Given the description of an element on the screen output the (x, y) to click on. 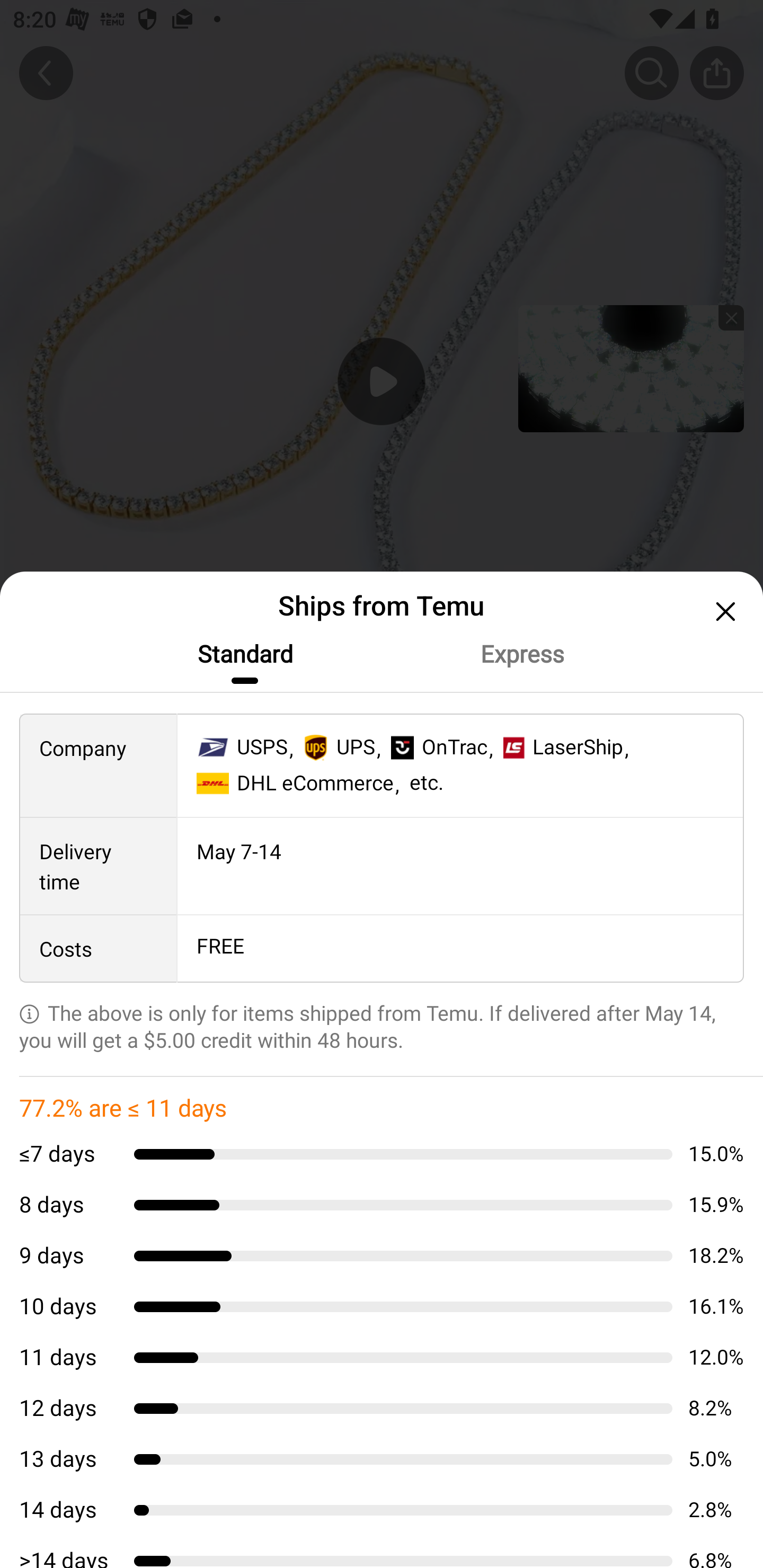
close (723, 611)
Standard (244, 653)
Express (521, 653)
￼ ￼ ￼ 4 interest-free biweekly installments (381, 1009)
￼￼in Men's Jewelry (381, 1149)
Add to cart ￼￼Only 9 left (381, 1513)
